Given the description of an element on the screen output the (x, y) to click on. 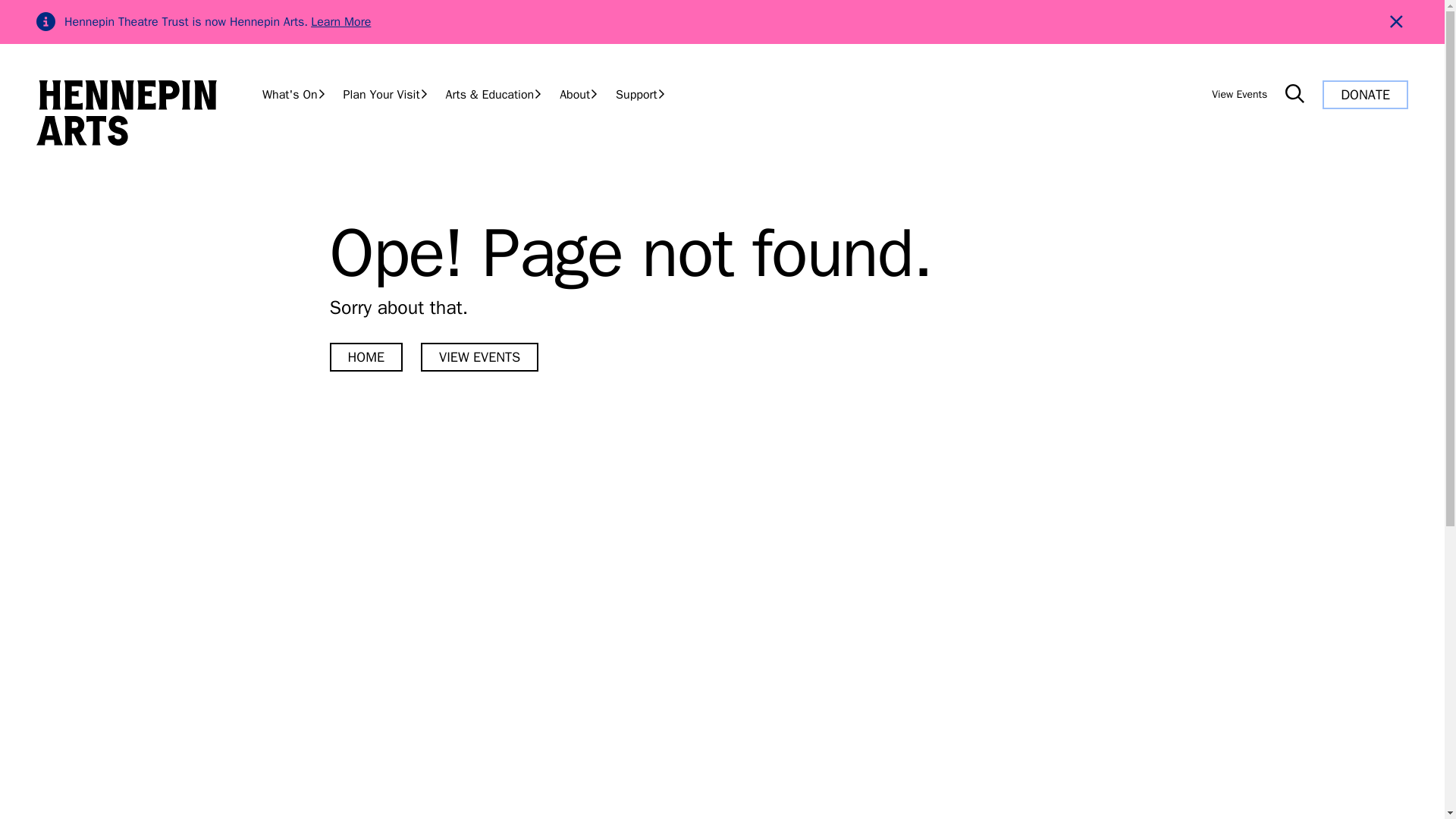
What's On (293, 94)
HOME (366, 357)
Support (640, 94)
About (578, 94)
View Events (1239, 94)
Plan Your Visit (385, 94)
Learn More (341, 21)
DONATE (1364, 94)
VIEW EVENTS (479, 357)
